Given the description of an element on the screen output the (x, y) to click on. 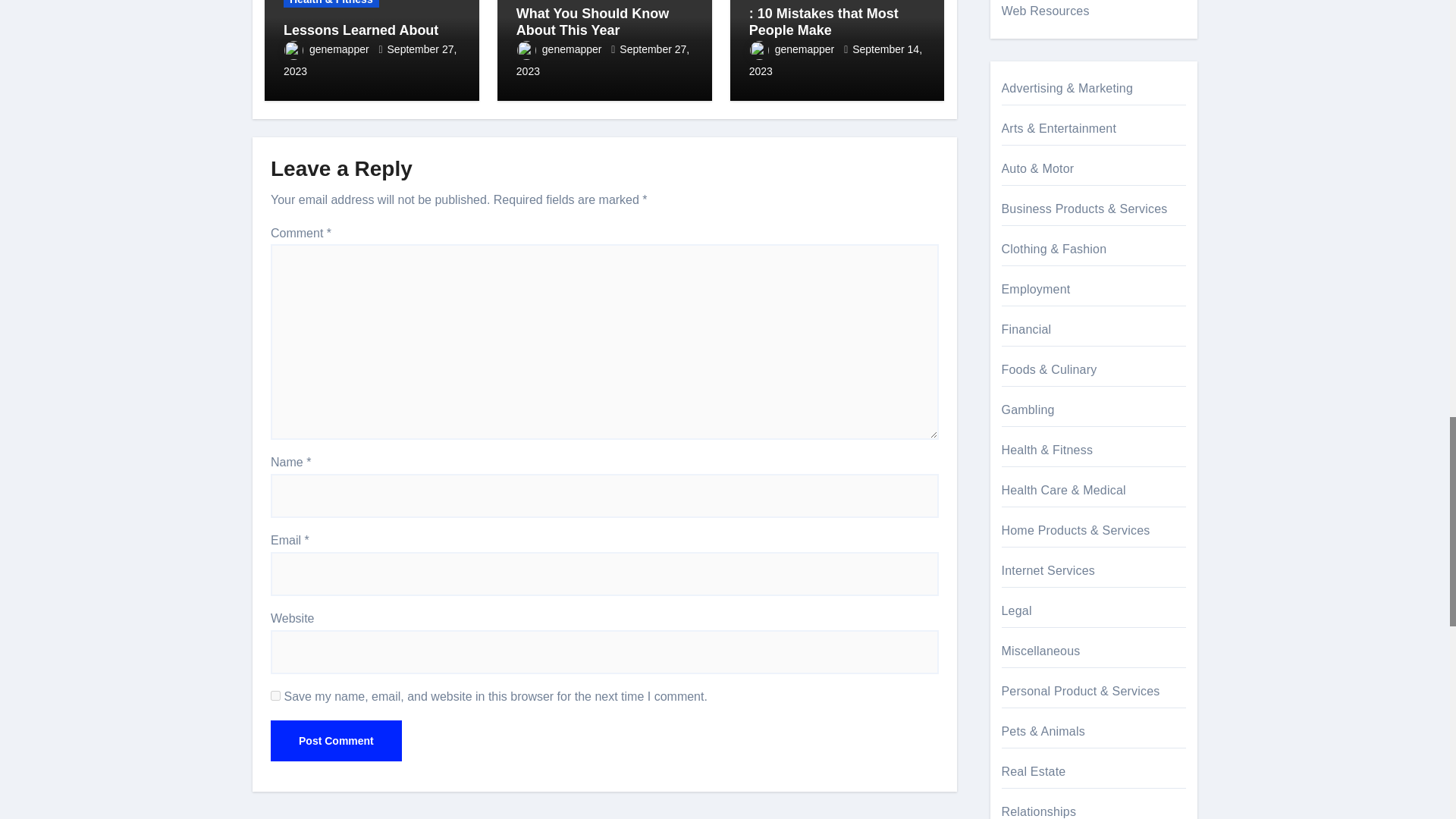
Lessons Learned About (360, 29)
Post Comment (335, 740)
Permalink to: What You Should Know About  This Year (592, 21)
Permalink to: : 10 Mistakes that Most People Make (823, 21)
Permalink to: Lessons Learned About (360, 29)
yes (275, 696)
